Given the description of an element on the screen output the (x, y) to click on. 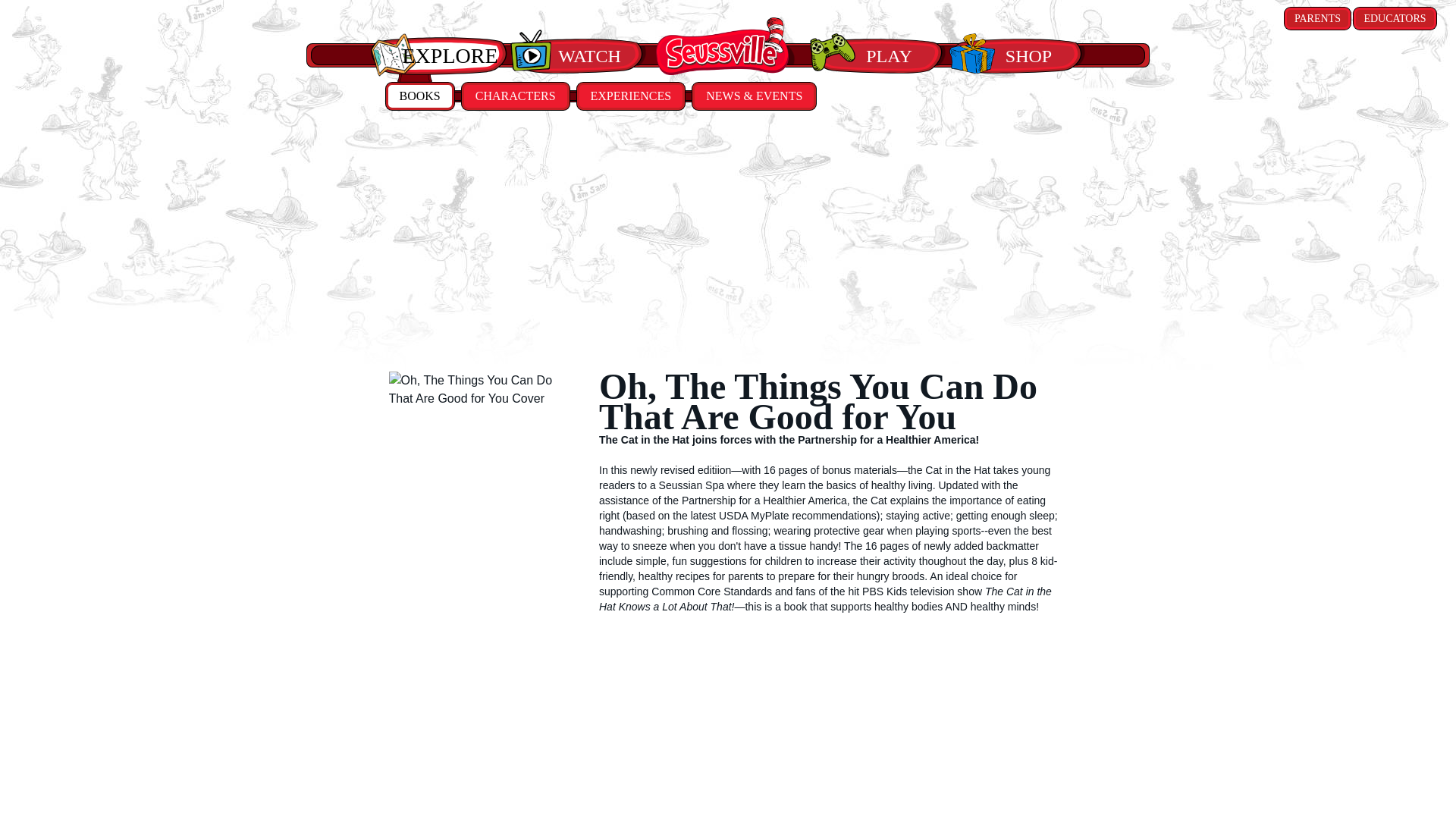
SHOP (1017, 55)
BOOKS (418, 95)
CHARACTERS (515, 95)
EXPLORE (437, 55)
EDUCATORS (1394, 18)
PLAY (877, 55)
EXPERIENCES (630, 95)
PARENTS (1317, 18)
WATCH (577, 55)
